Given the description of an element on the screen output the (x, y) to click on. 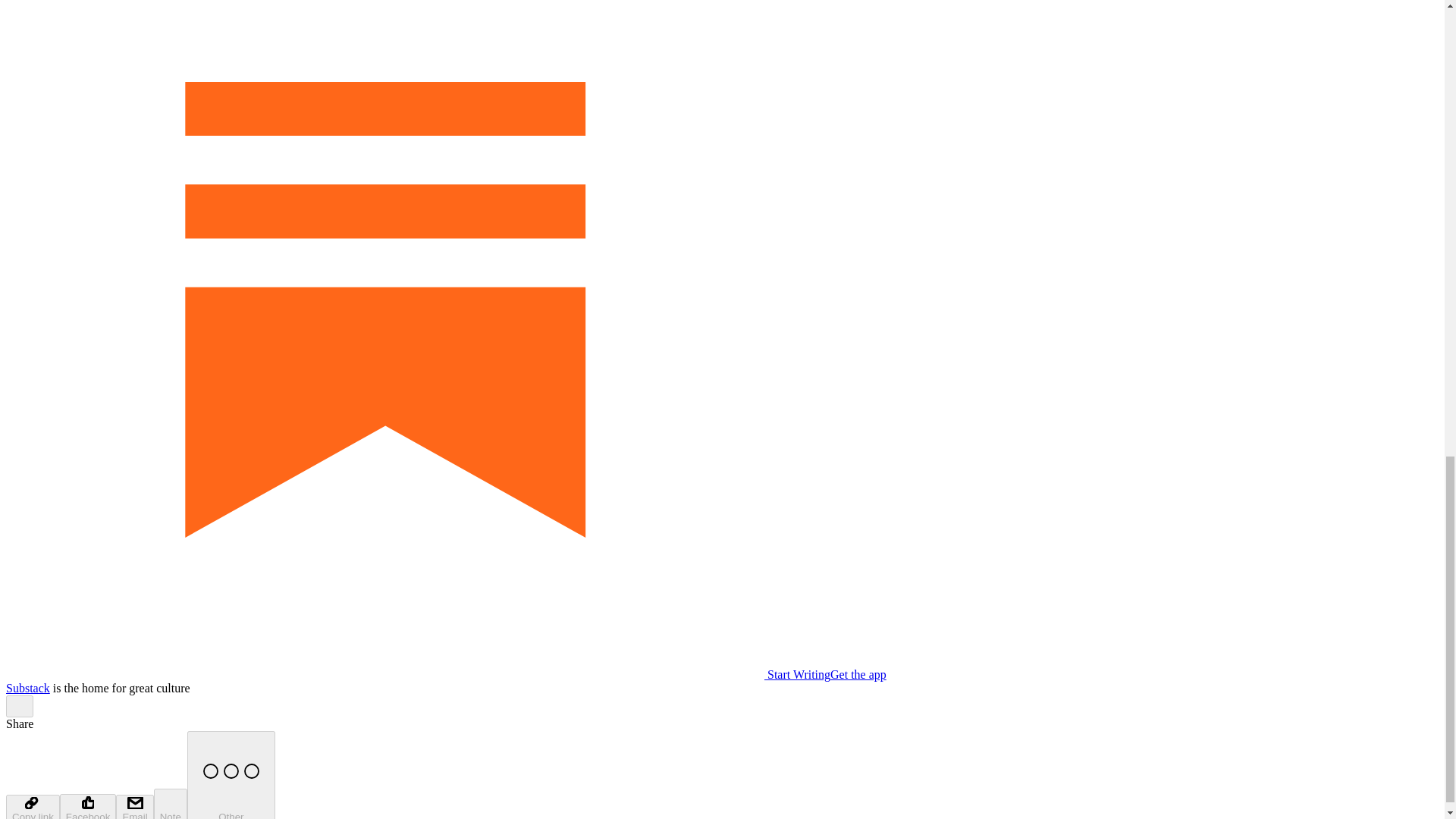
Get the app (857, 674)
Substack (27, 687)
Start Writing (417, 674)
